Given the description of an element on the screen output the (x, y) to click on. 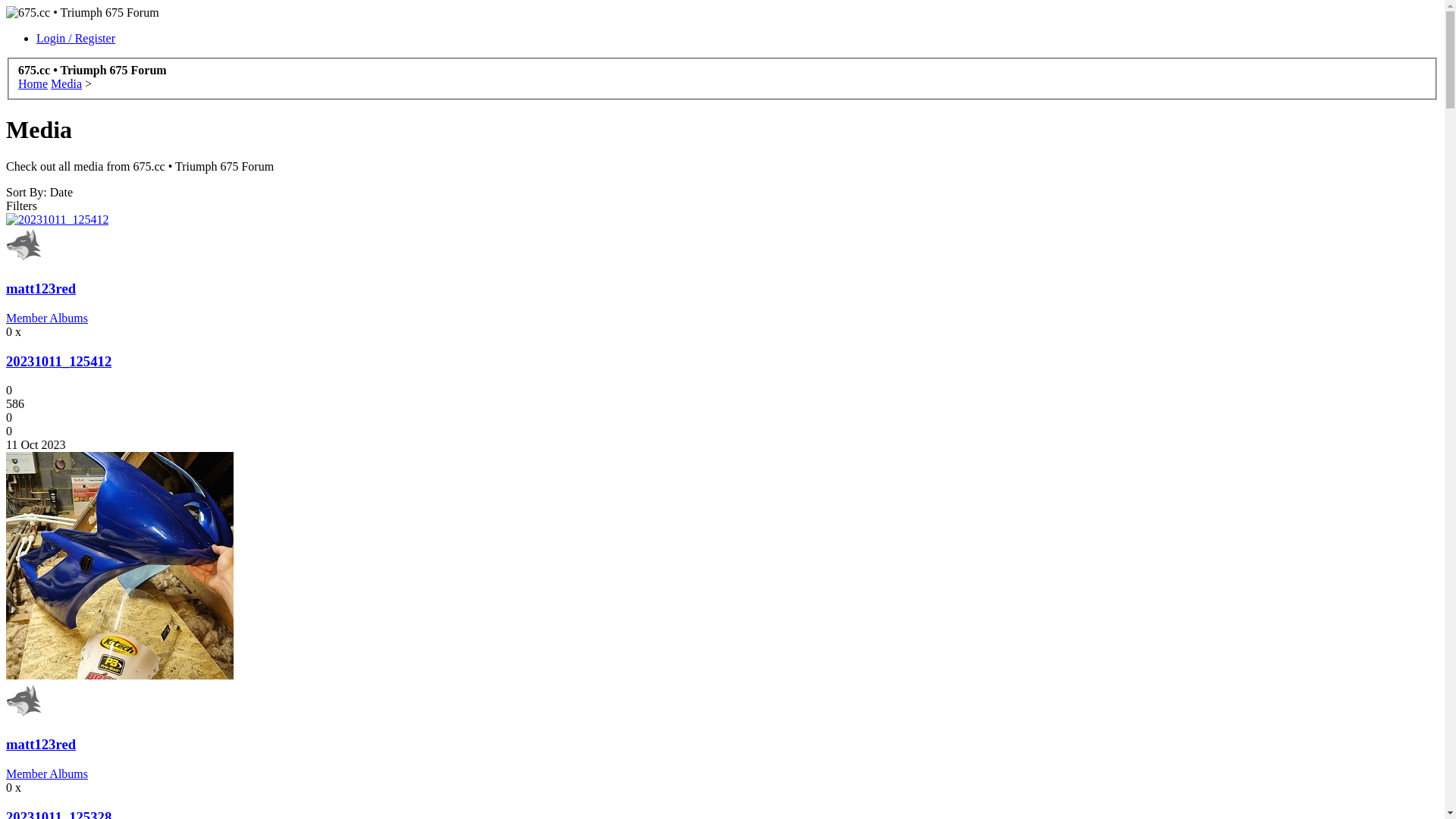
Home Element type: text (32, 83)
Media Element type: text (65, 83)
Login / Register Element type: text (75, 37)
Member Albums Element type: text (46, 773)
matt123red Element type: text (40, 288)
Filters Element type: text (21, 205)
Date Element type: text (61, 191)
20231011_125412 Element type: text (58, 361)
Member Albums Element type: text (46, 317)
matt123red Element type: text (40, 744)
